Given the description of an element on the screen output the (x, y) to click on. 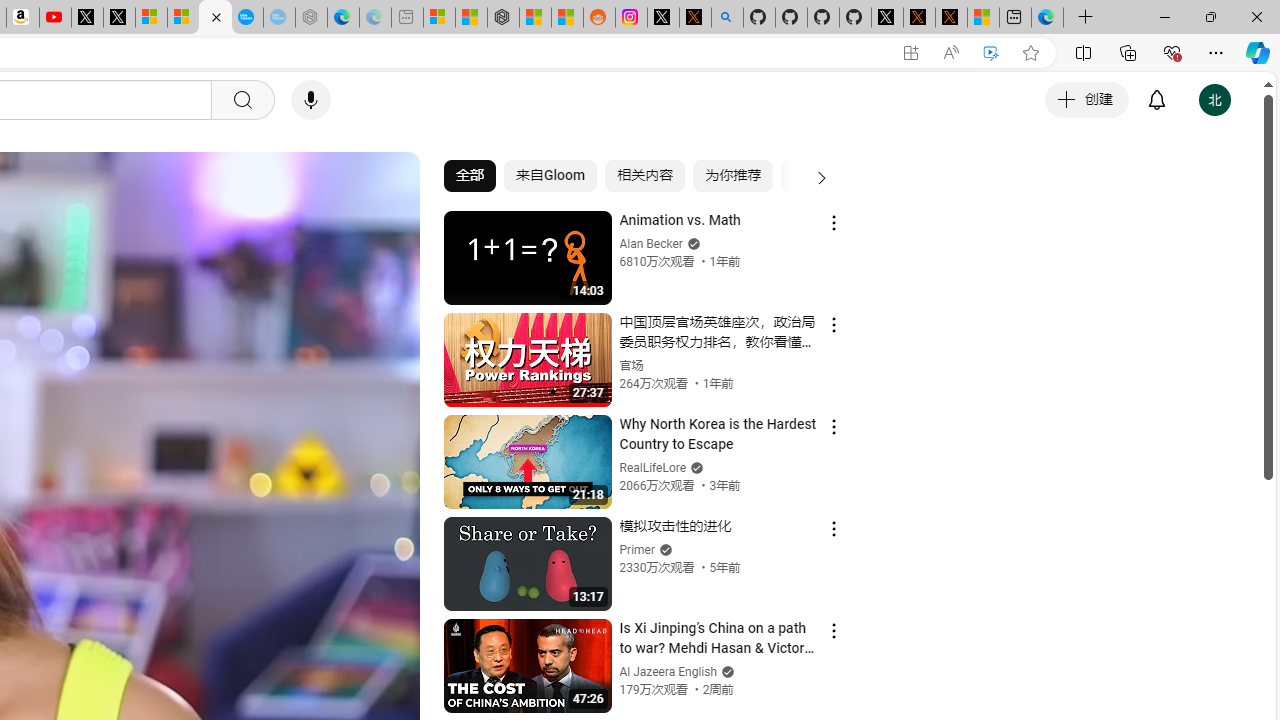
Log in to X / X (663, 17)
Split screen (1083, 52)
Welcome to Microsoft Edge (1047, 17)
The most popular Google 'how to' searches - Sleeping (279, 17)
Add this page to favorites (Ctrl+D) (1030, 53)
github - Search (727, 17)
